Given the description of an element on the screen output the (x, y) to click on. 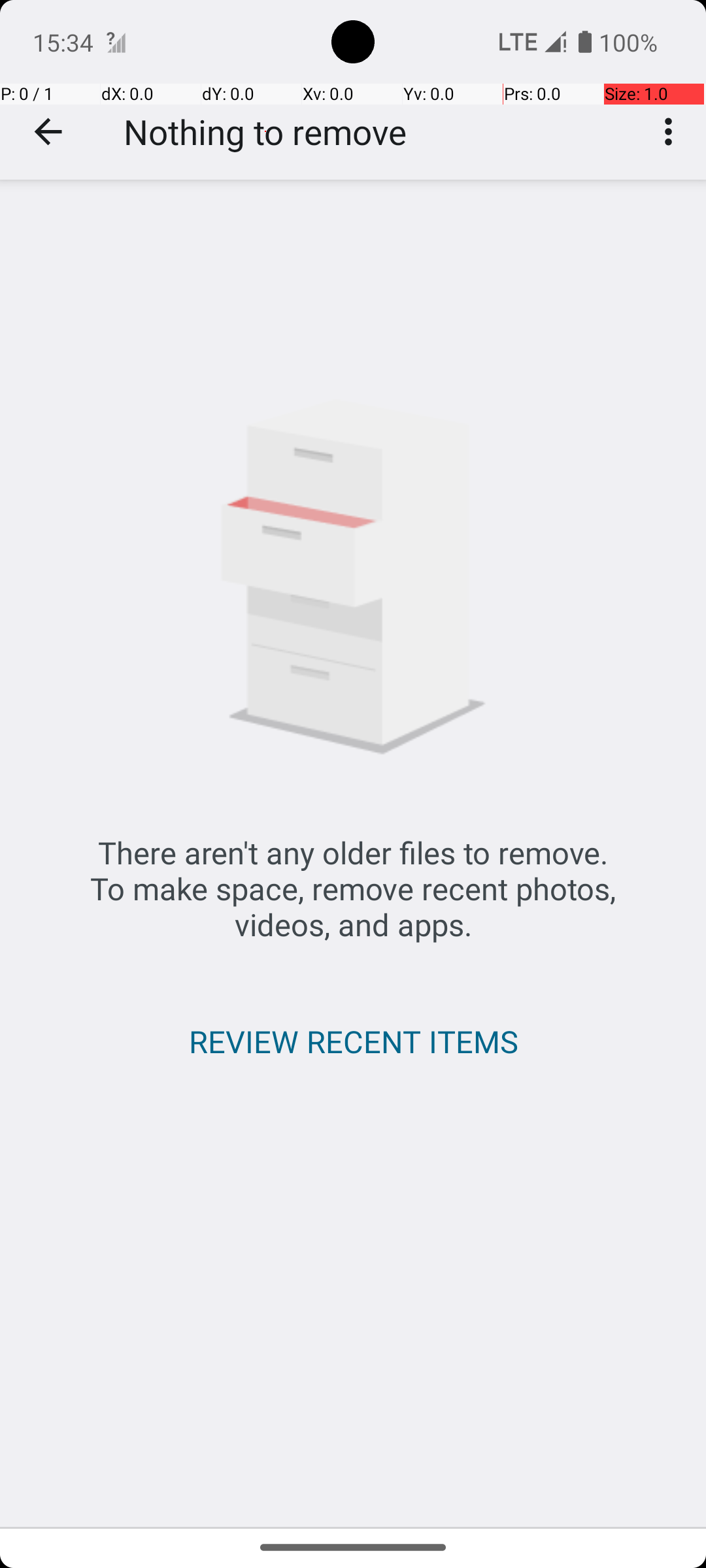
Nothing to remove Element type: android.widget.TextView (265, 131)
There aren't any older files to remove. To make space, remove recent photos, videos, and apps. Element type: android.widget.TextView (353, 887)
REVIEW RECENT ITEMS Element type: android.widget.TextView (352, 1040)
